Given the description of an element on the screen output the (x, y) to click on. 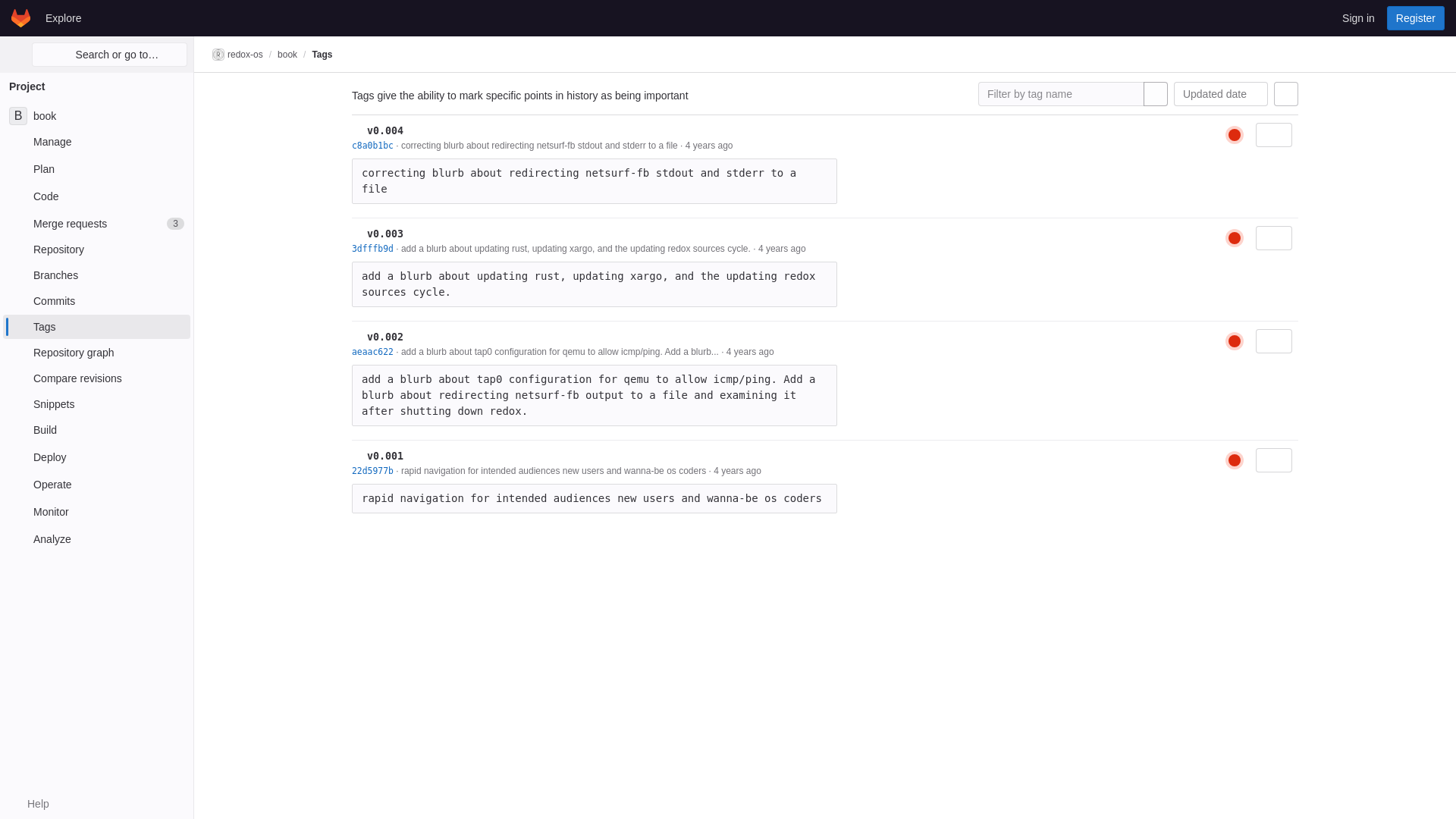
Pipeline: failed (1234, 460)
Register (1415, 17)
Pipeline: failed (1234, 341)
Pipeline: failed (1234, 238)
Commits (96, 300)
Tags (96, 326)
Download (1273, 238)
Compare revisions (96, 378)
Sign in (1358, 17)
Manage (96, 141)
Operate (96, 223)
Tags feed (96, 484)
Monitor (1286, 93)
Homepage (96, 511)
